Given the description of an element on the screen output the (x, y) to click on. 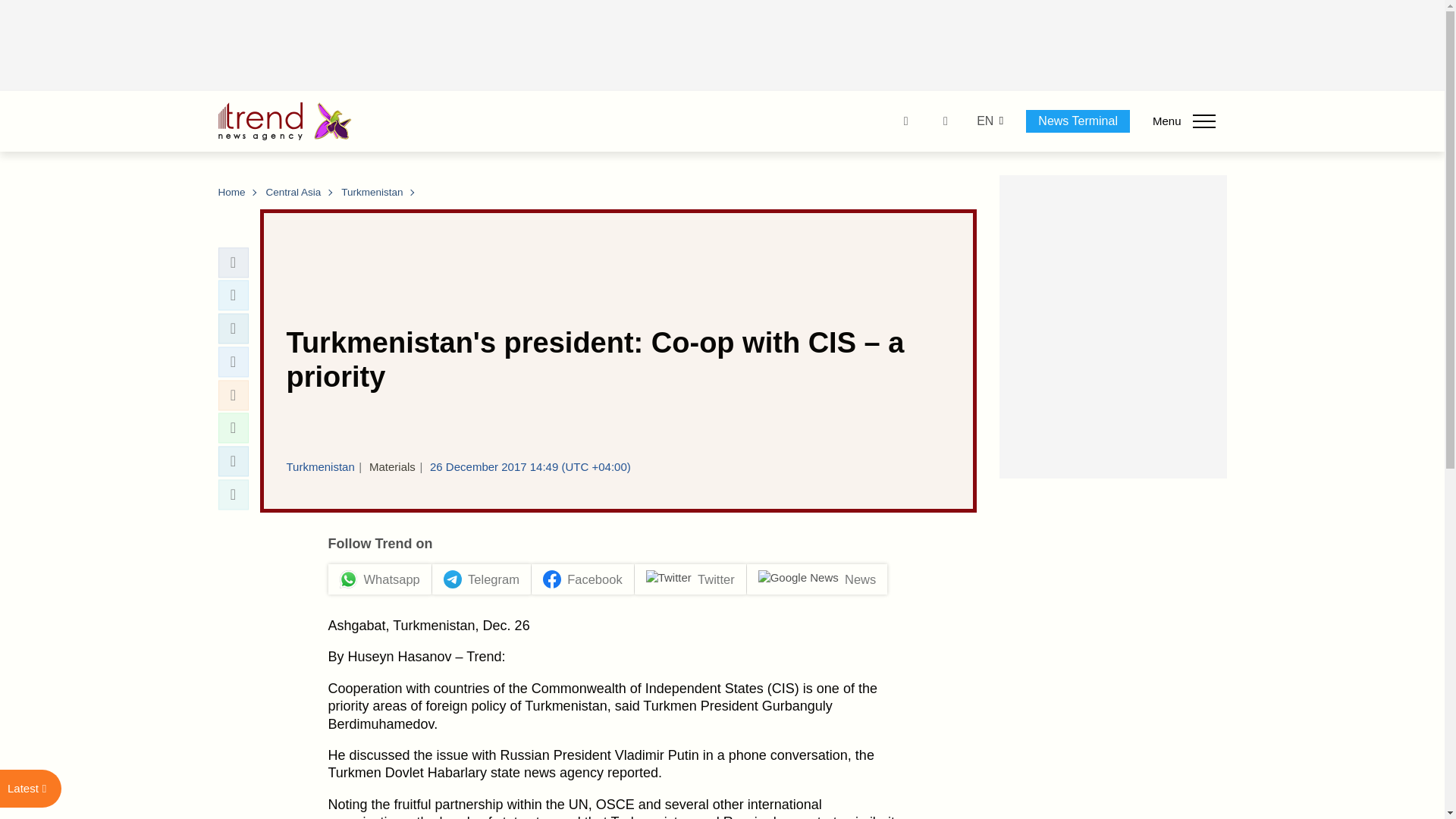
EN (984, 121)
English (984, 121)
News Terminal (1077, 120)
